Given the description of an element on the screen output the (x, y) to click on. 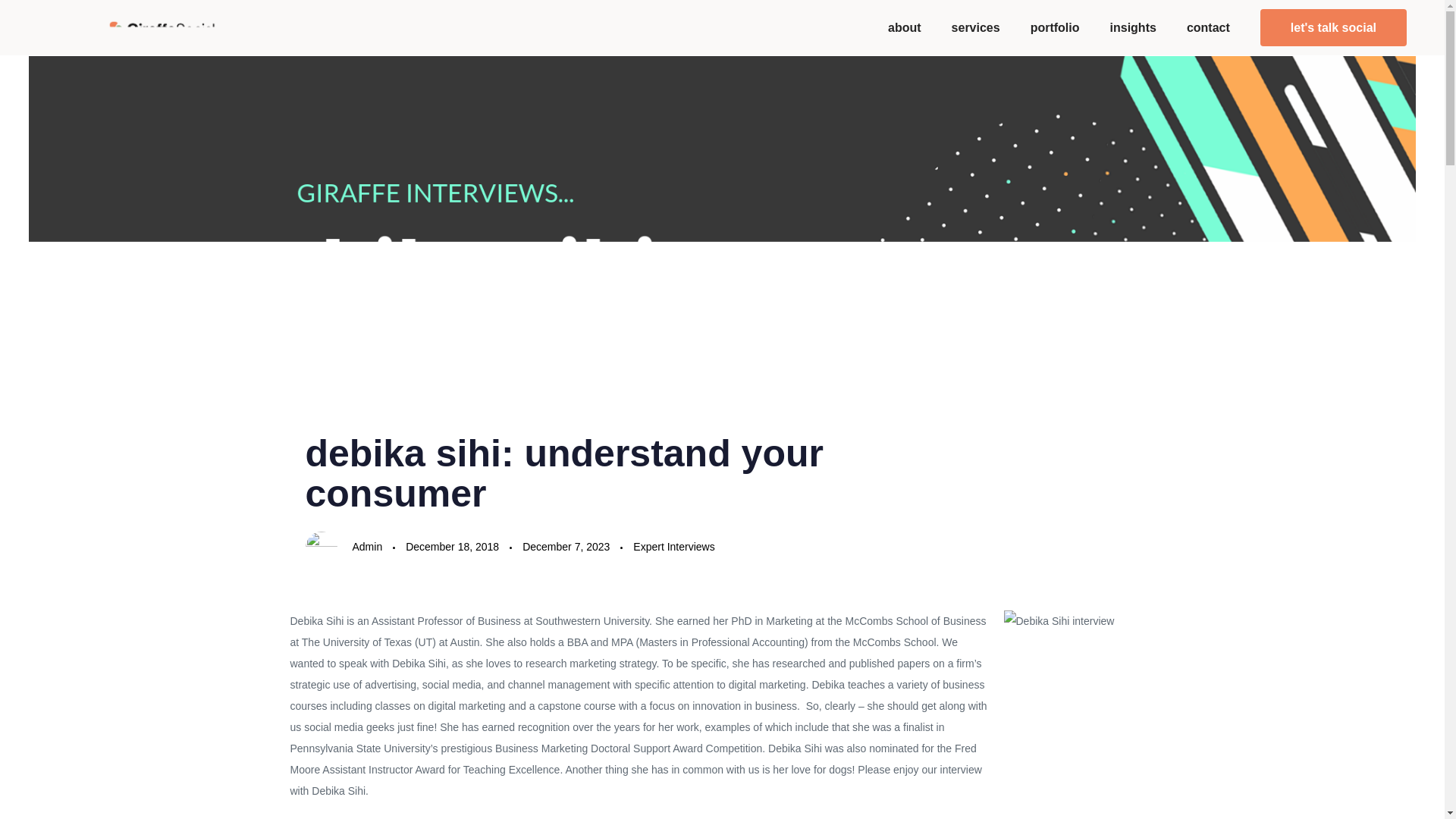
portfolio (1054, 27)
services (975, 27)
Expert Interviews (673, 547)
Admin (366, 546)
December 7, 2023 (566, 547)
let's talk social (1333, 27)
Posts by Admin (366, 546)
contact (1208, 27)
insights (1133, 27)
about (904, 27)
